Given the description of an element on the screen output the (x, y) to click on. 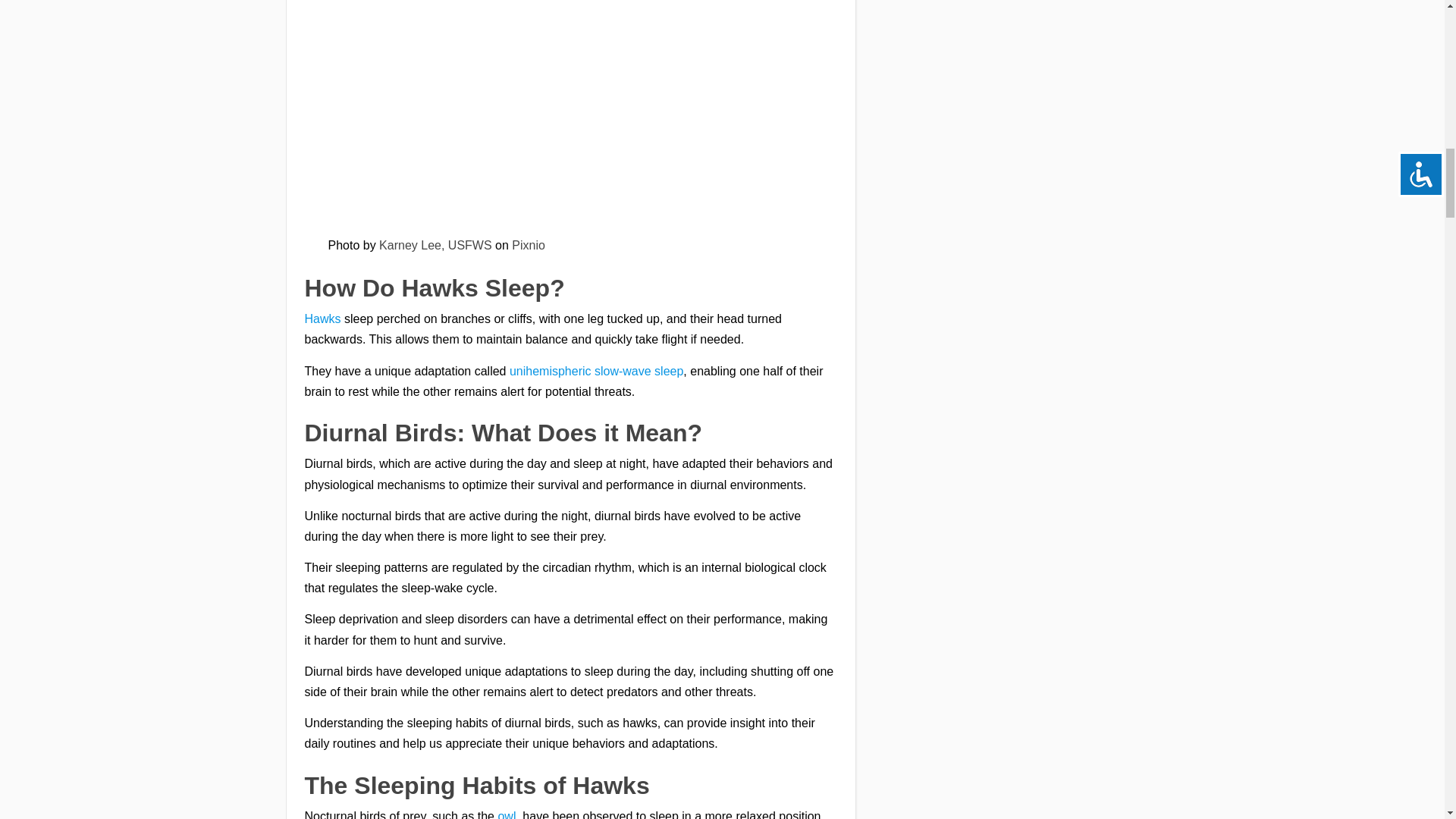
Pixnio (528, 245)
Hawks (322, 318)
Karney Lee, USFWS (435, 245)
unihemispheric slow-wave sleep (595, 370)
